Given the description of an element on the screen output the (x, y) to click on. 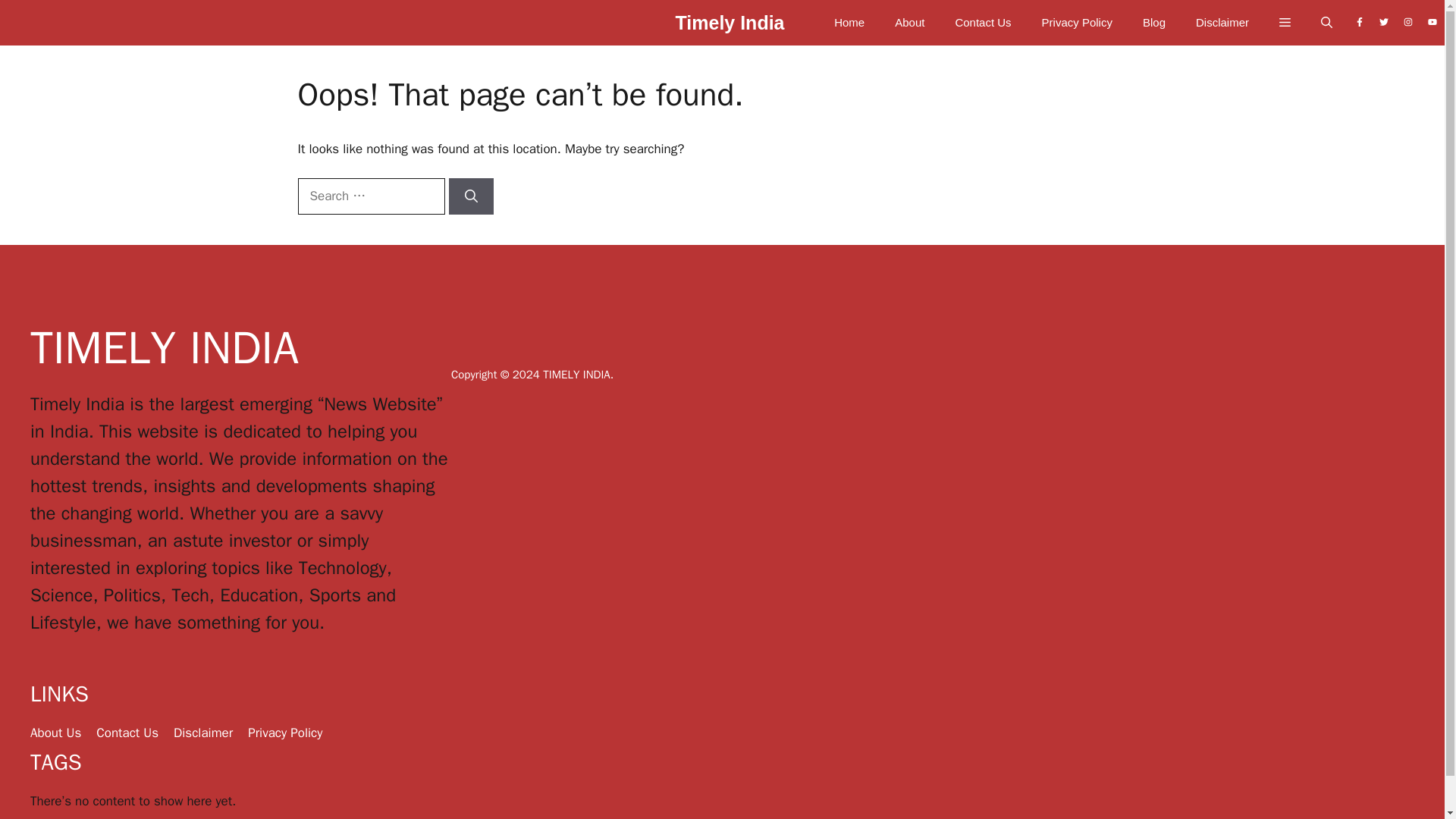
Disclaimer (1221, 22)
About Us (55, 732)
Home (848, 22)
Contact Us (982, 22)
Blog (1153, 22)
Privacy Policy (284, 732)
Privacy Policy (1076, 22)
About (909, 22)
Timely India (729, 26)
Disclaimer (202, 732)
